Given the description of an element on the screen output the (x, y) to click on. 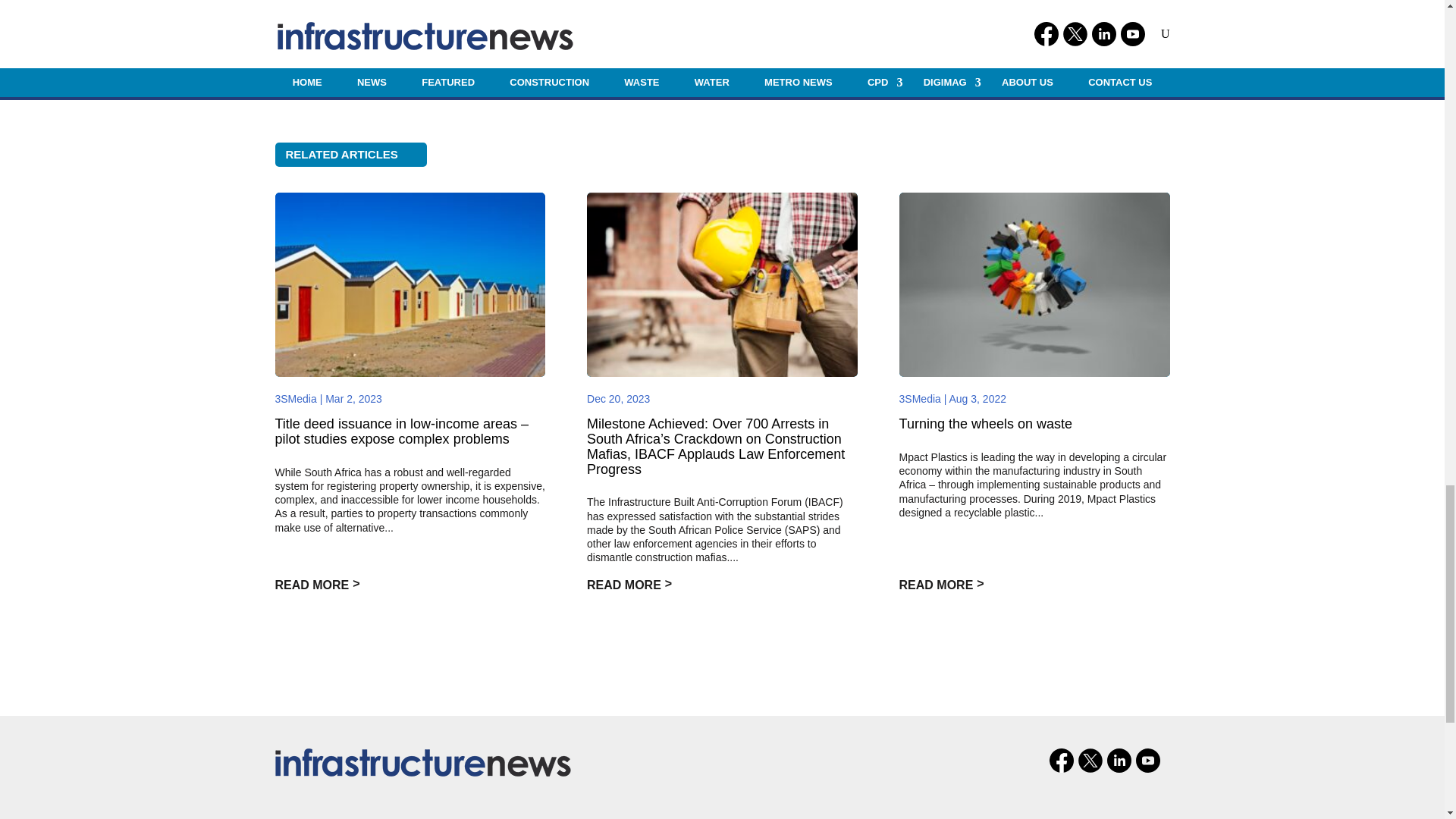
Linkedin (1118, 760)
Facebook (1061, 760)
Posts by 3SMedia (295, 398)
Twitter (1090, 760)
thePlannerguru-red (422, 762)
Youtube (1147, 760)
Posts by 3SMedia (919, 398)
